Given the description of an element on the screen output the (x, y) to click on. 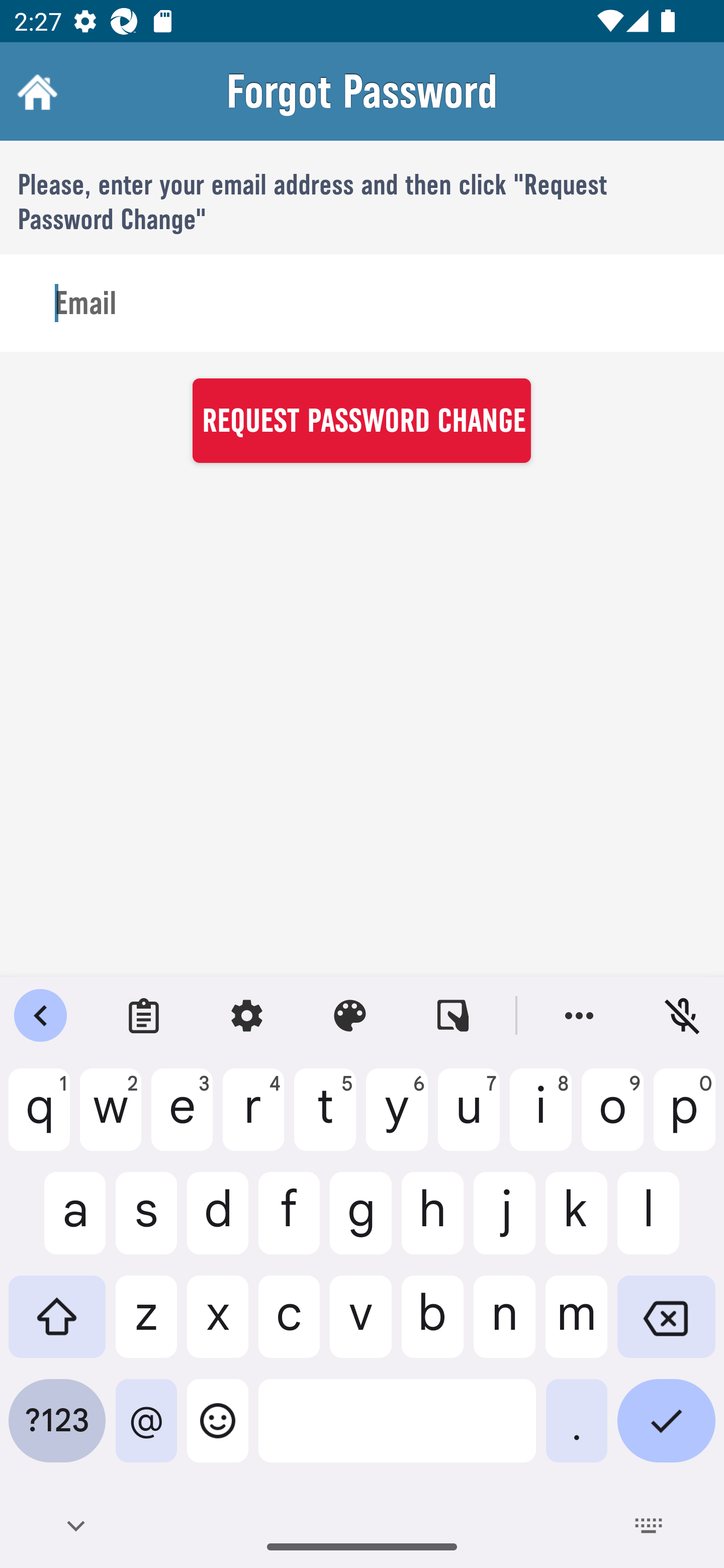
Home (35, 91)
Email (361, 303)
REQUEST PASSWORD CHANGE (361, 419)
